Given the description of an element on the screen output the (x, y) to click on. 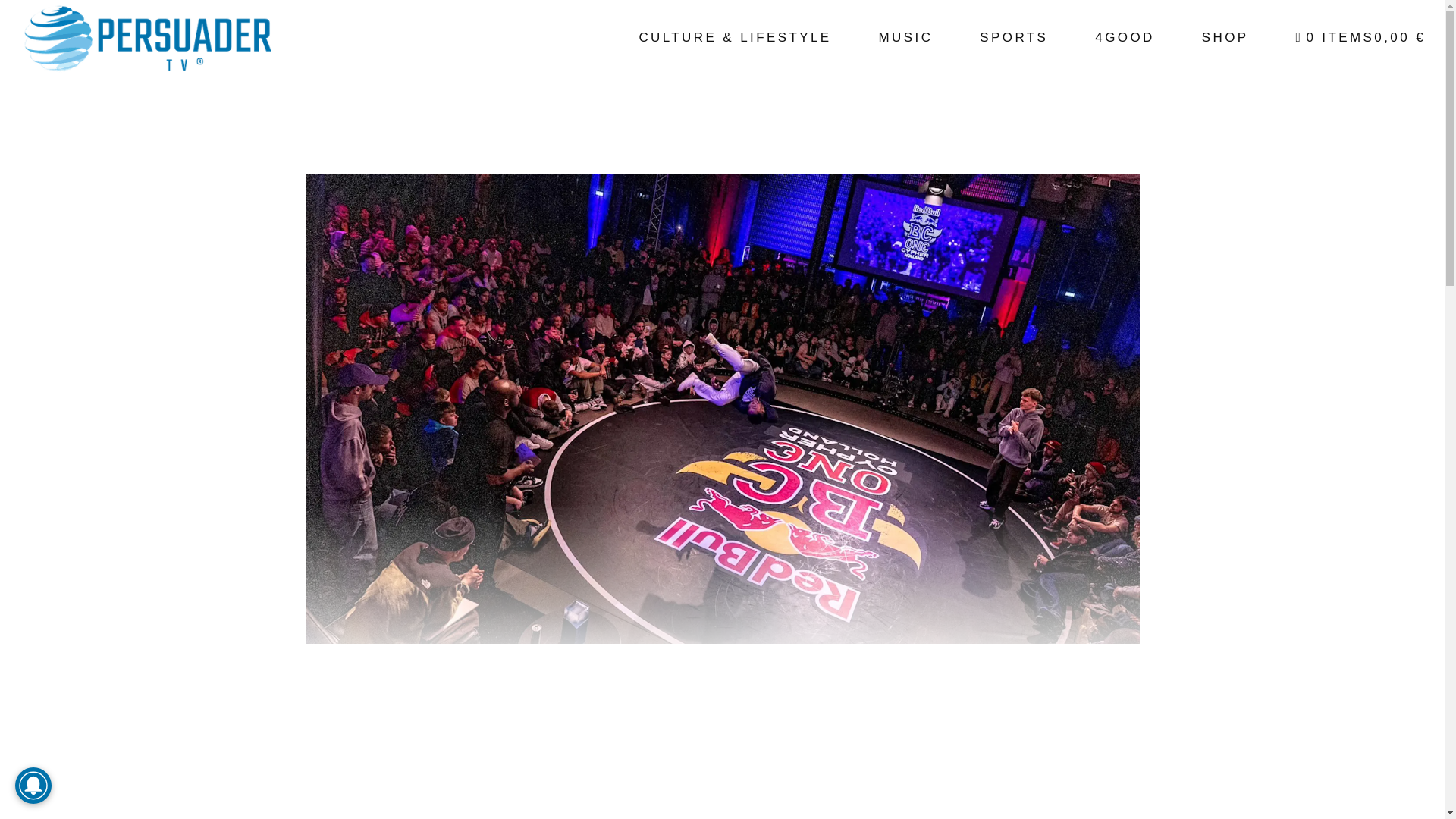
Start shopping (1360, 38)
sports (1013, 38)
SPORTS (1013, 38)
culture-lifestyle (735, 38)
